Given the description of an element on the screen output the (x, y) to click on. 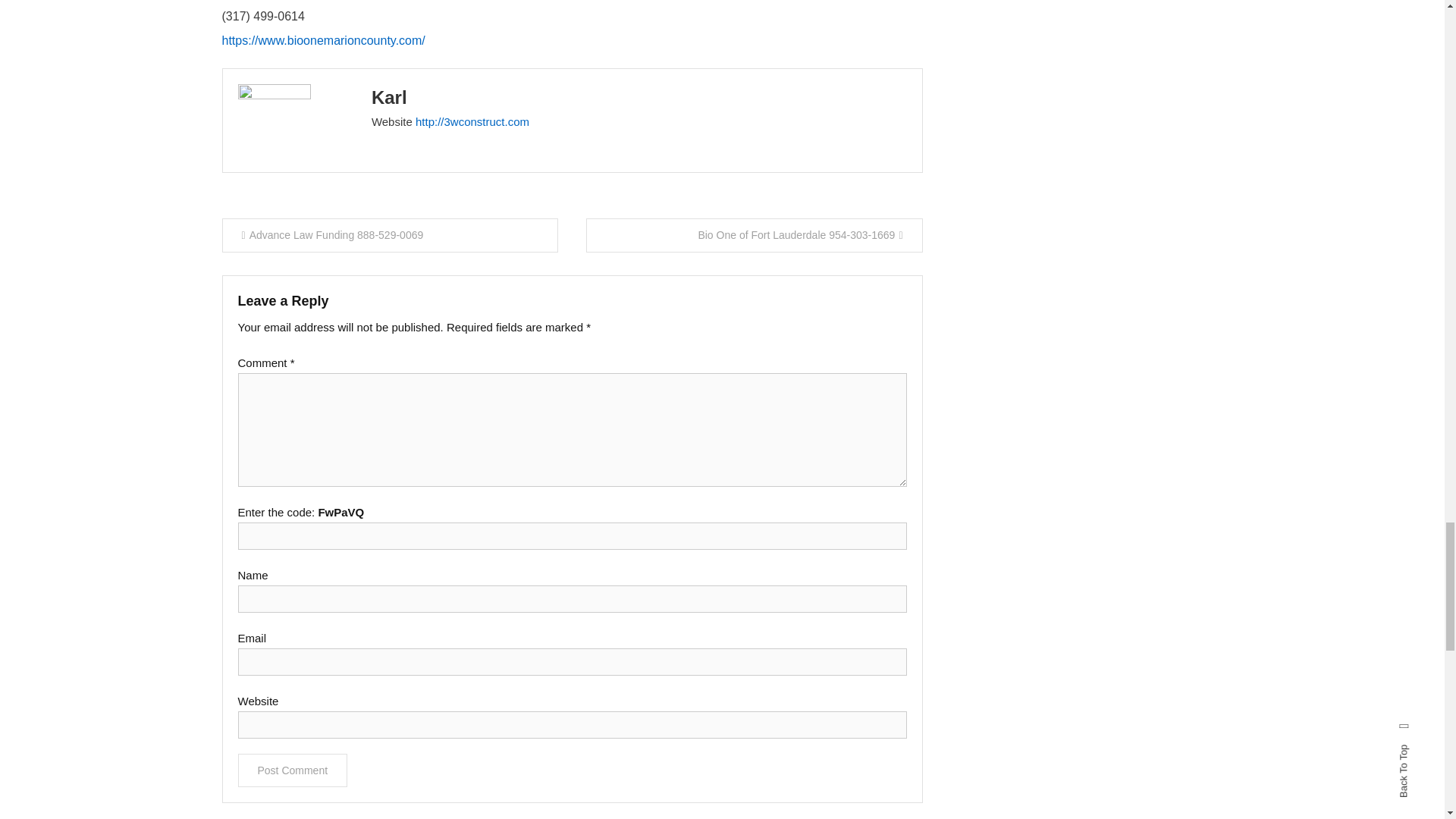
Posts by Karl (389, 96)
Post Comment (292, 770)
